Given the description of an element on the screen output the (x, y) to click on. 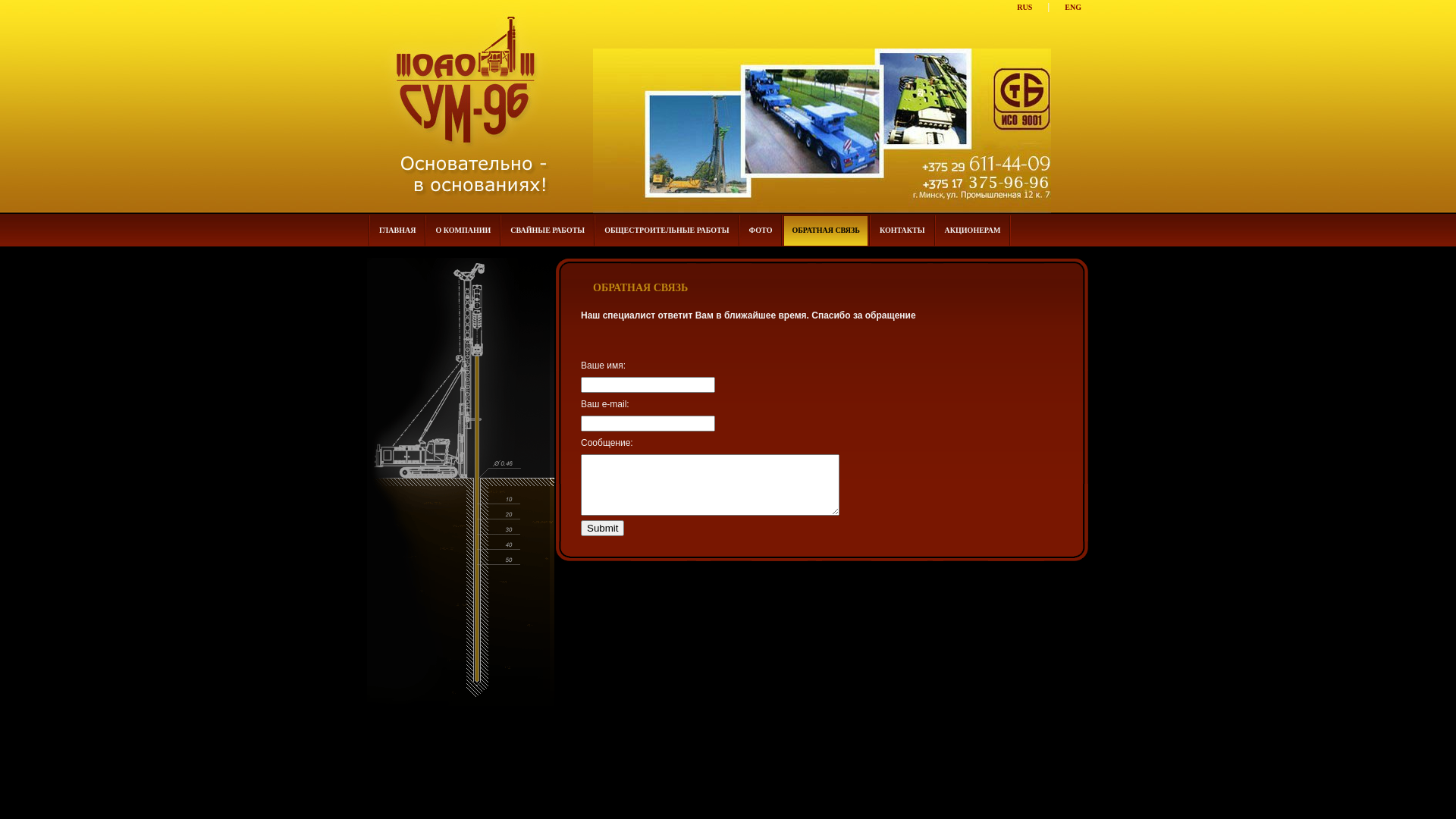
RUS Element type: text (1024, 7)
ENG Element type: text (1072, 7)
